Given the description of an element on the screen output the (x, y) to click on. 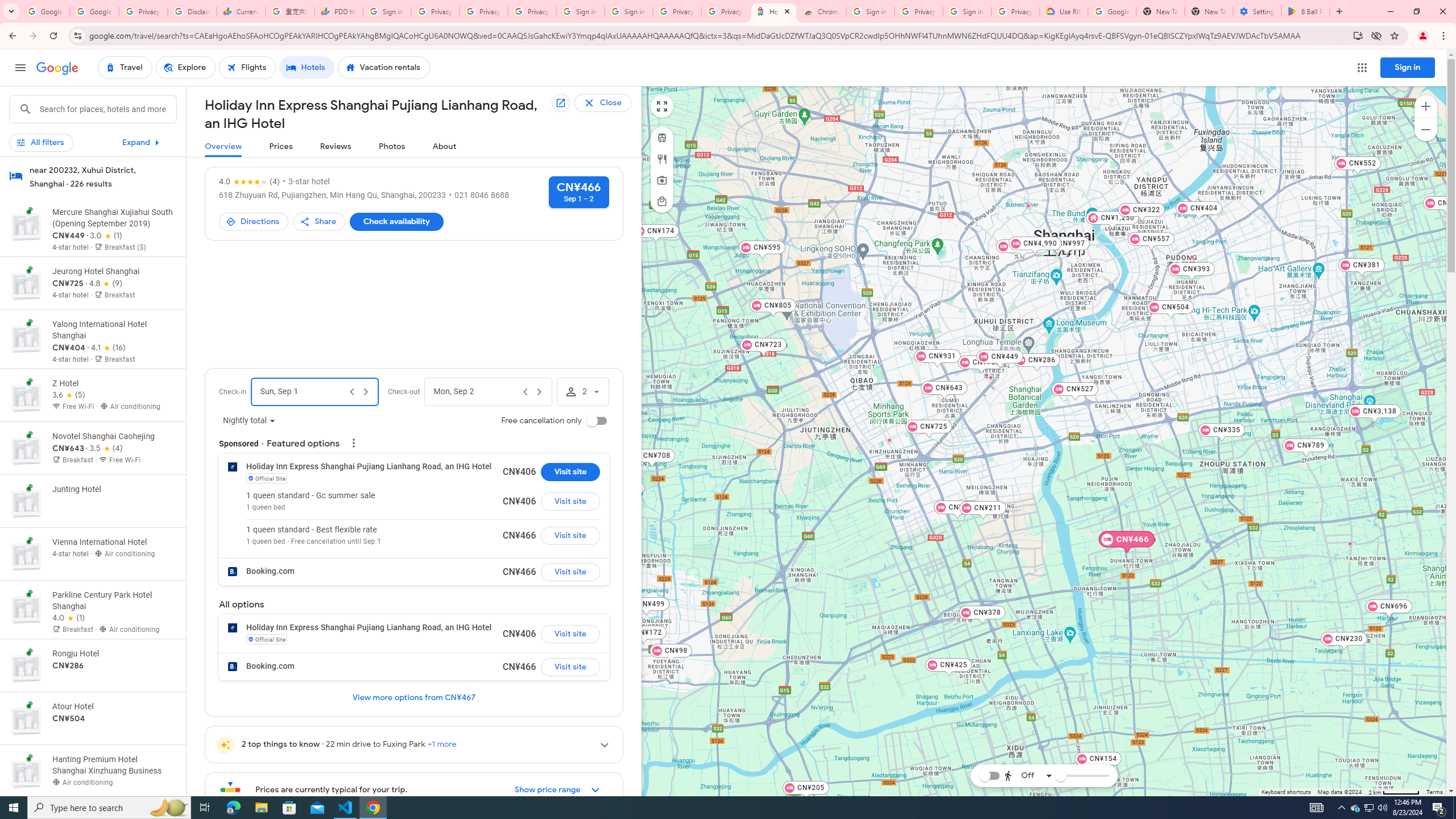
Google Workspace Admin Community (45, 11)
Sign in - Google Accounts (387, 11)
Sign in - Google Accounts (628, 11)
3 out of 5 stars from 1 reviews (106, 235)
Share (319, 221)
Prices (280, 146)
